Given the description of an element on the screen output the (x, y) to click on. 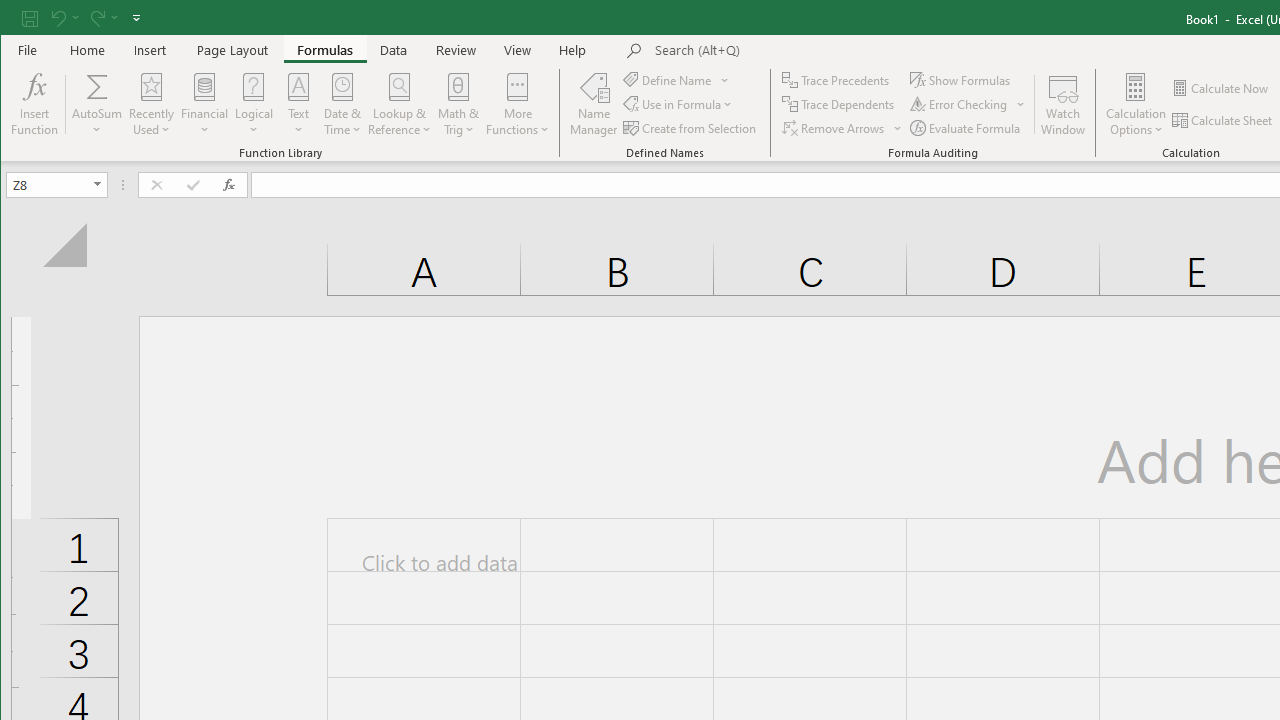
Calculation Options (1135, 104)
Error Checking... (960, 103)
Trace Dependents (840, 103)
